Given the description of an element on the screen output the (x, y) to click on. 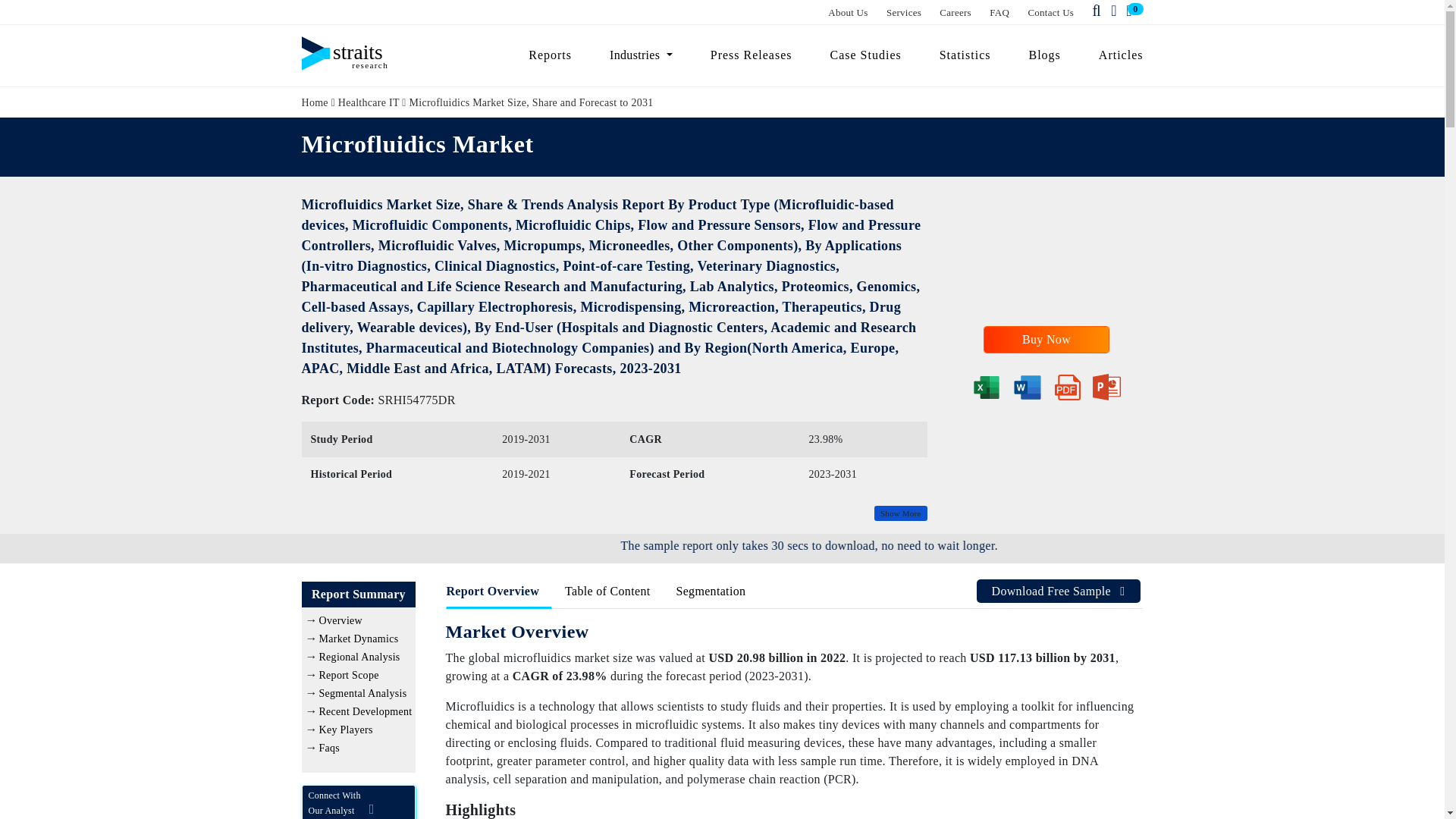
Statistics (965, 55)
Careers (955, 12)
Services (903, 12)
FAQ (999, 12)
Report Scope (348, 674)
Contact Us (1050, 12)
Industries (641, 55)
Blogs (1044, 55)
0 (1130, 11)
Key Players (345, 729)
Recent Development (365, 711)
Press Releases (750, 55)
Overview (339, 620)
Case Studies (865, 55)
Market Dynamics (357, 638)
